Given the description of an element on the screen output the (x, y) to click on. 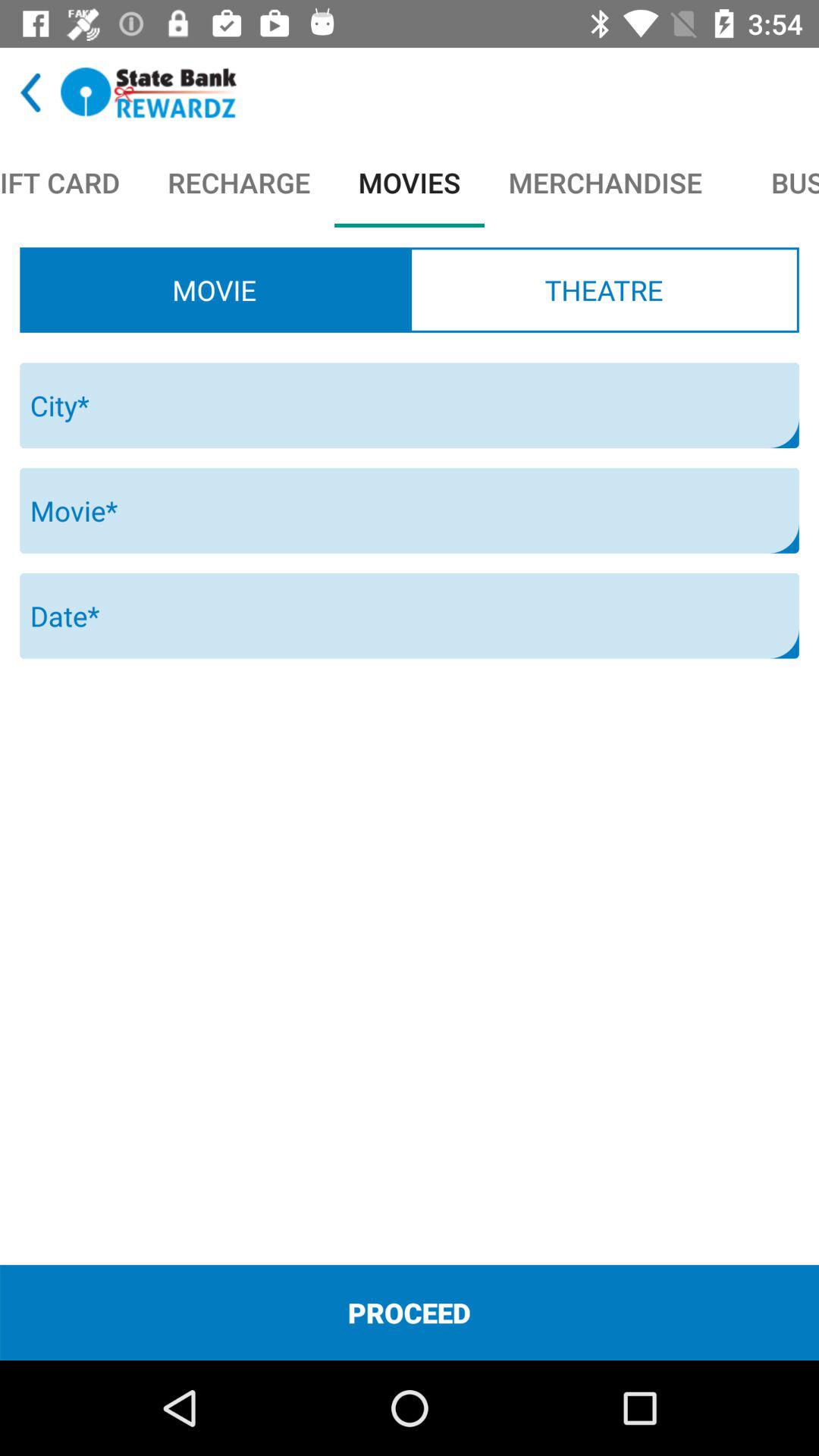
select app below movies (604, 289)
